Given the description of an element on the screen output the (x, y) to click on. 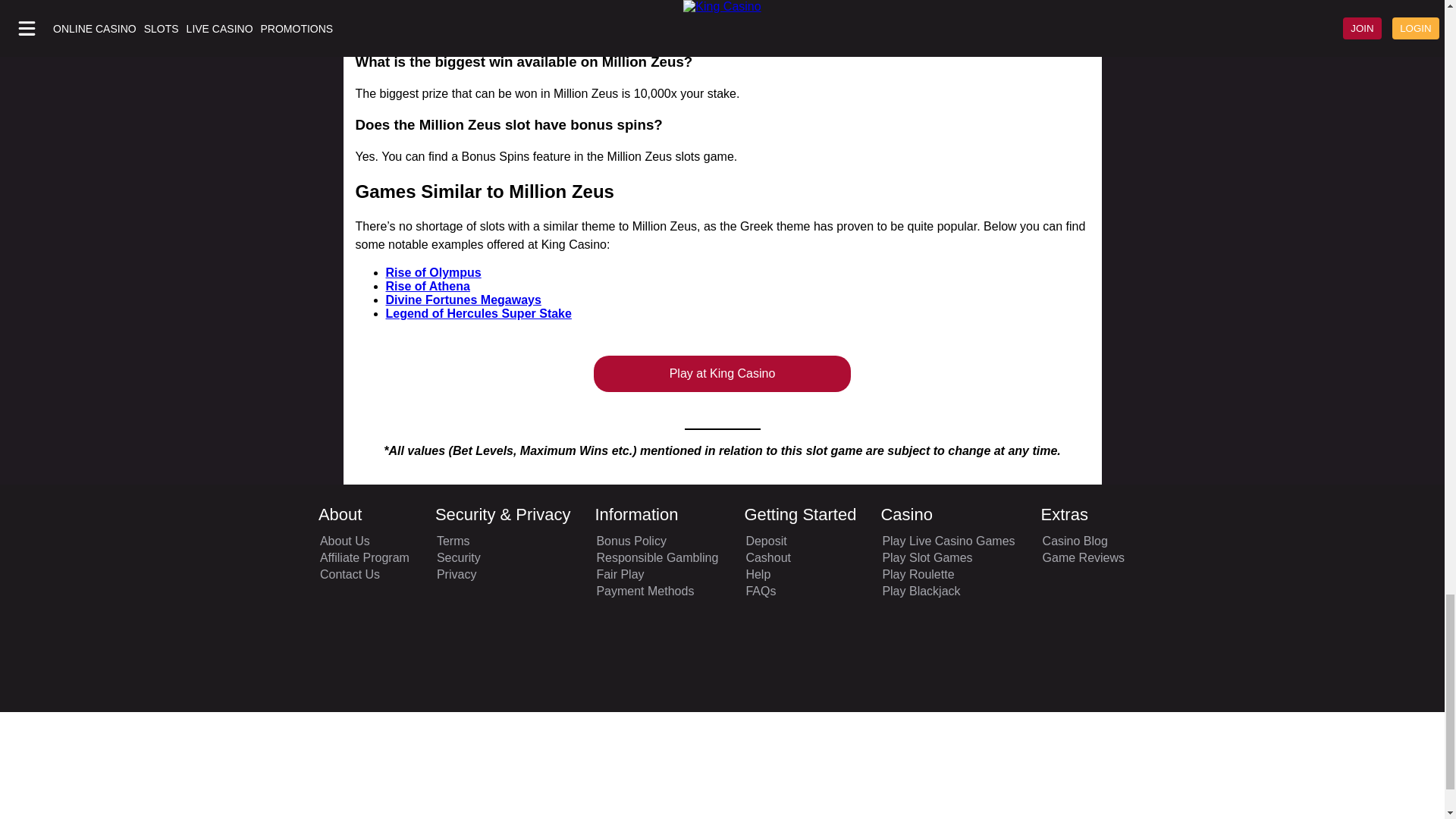
Divine Fortunes Megaways (462, 299)
Legend of Hercules Super Stake (477, 313)
Rise of Athena (426, 286)
Rise of Olympus (432, 272)
